Given the description of an element on the screen output the (x, y) to click on. 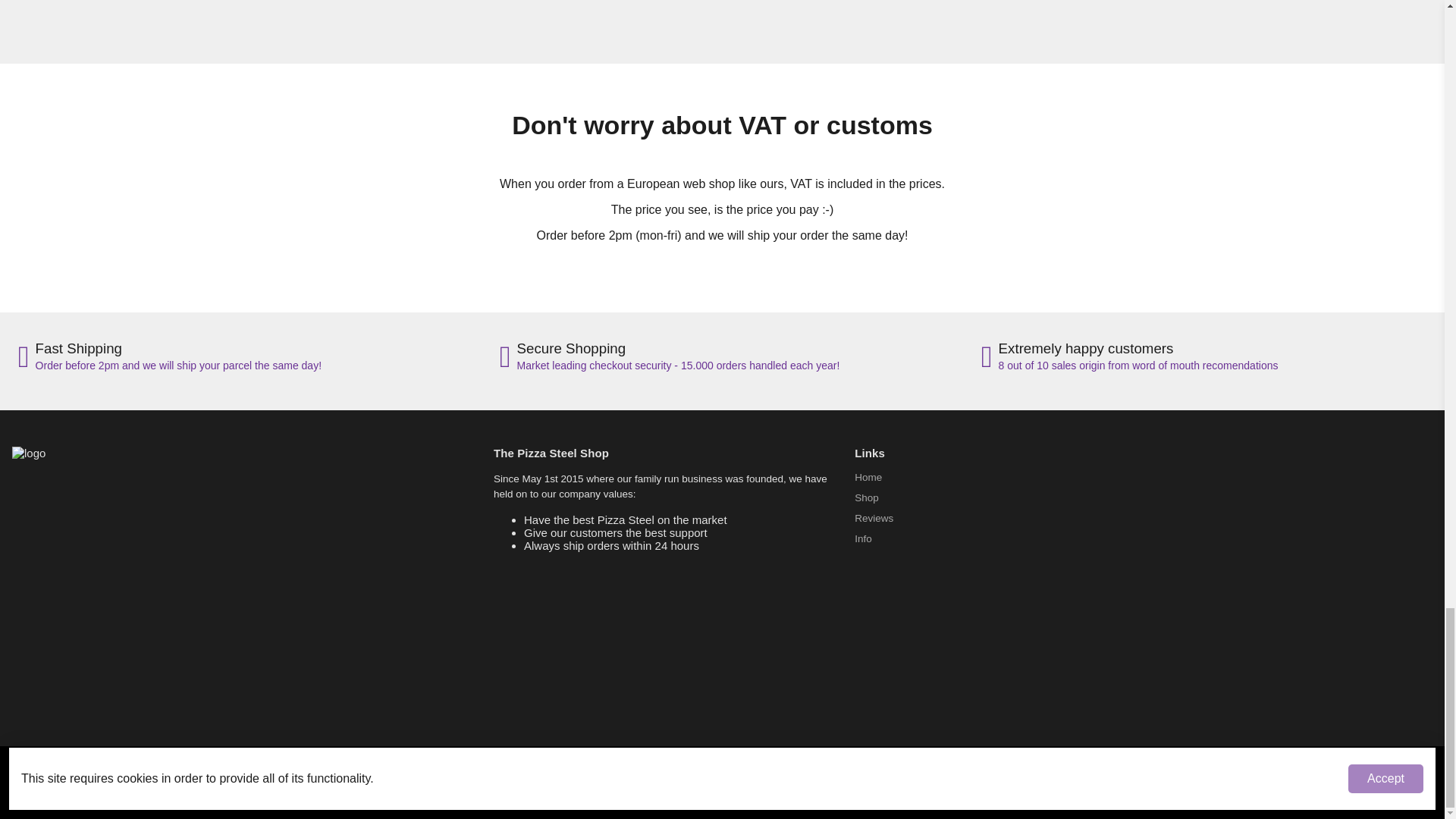
iDEAL (721, 781)
Visa (689, 781)
Bancontact (753, 781)
Customer reviews powered by Trustpilot (722, 24)
SOFORT (785, 781)
Mastercard (657, 781)
